Given the description of an element on the screen output the (x, y) to click on. 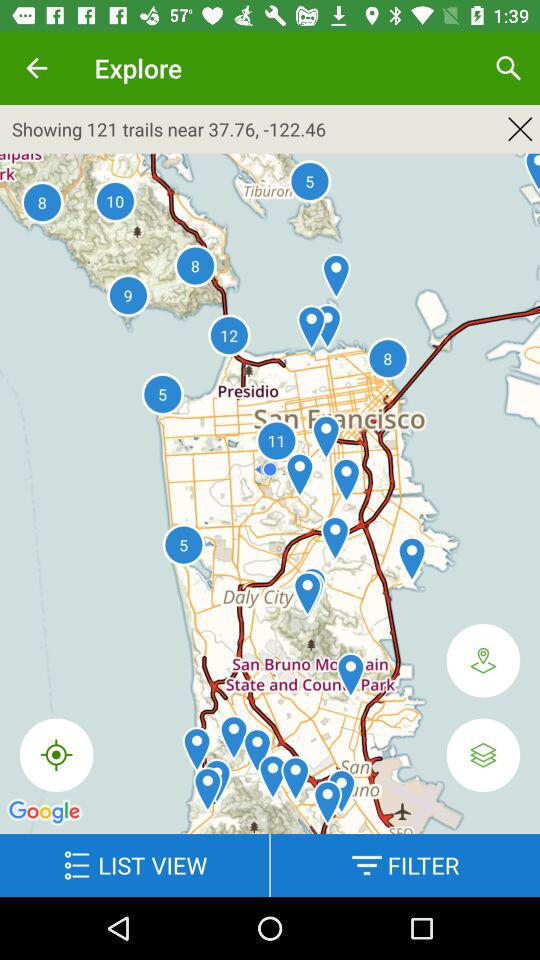
tap icon to the right of the showing 121 trails (520, 128)
